Given the description of an element on the screen output the (x, y) to click on. 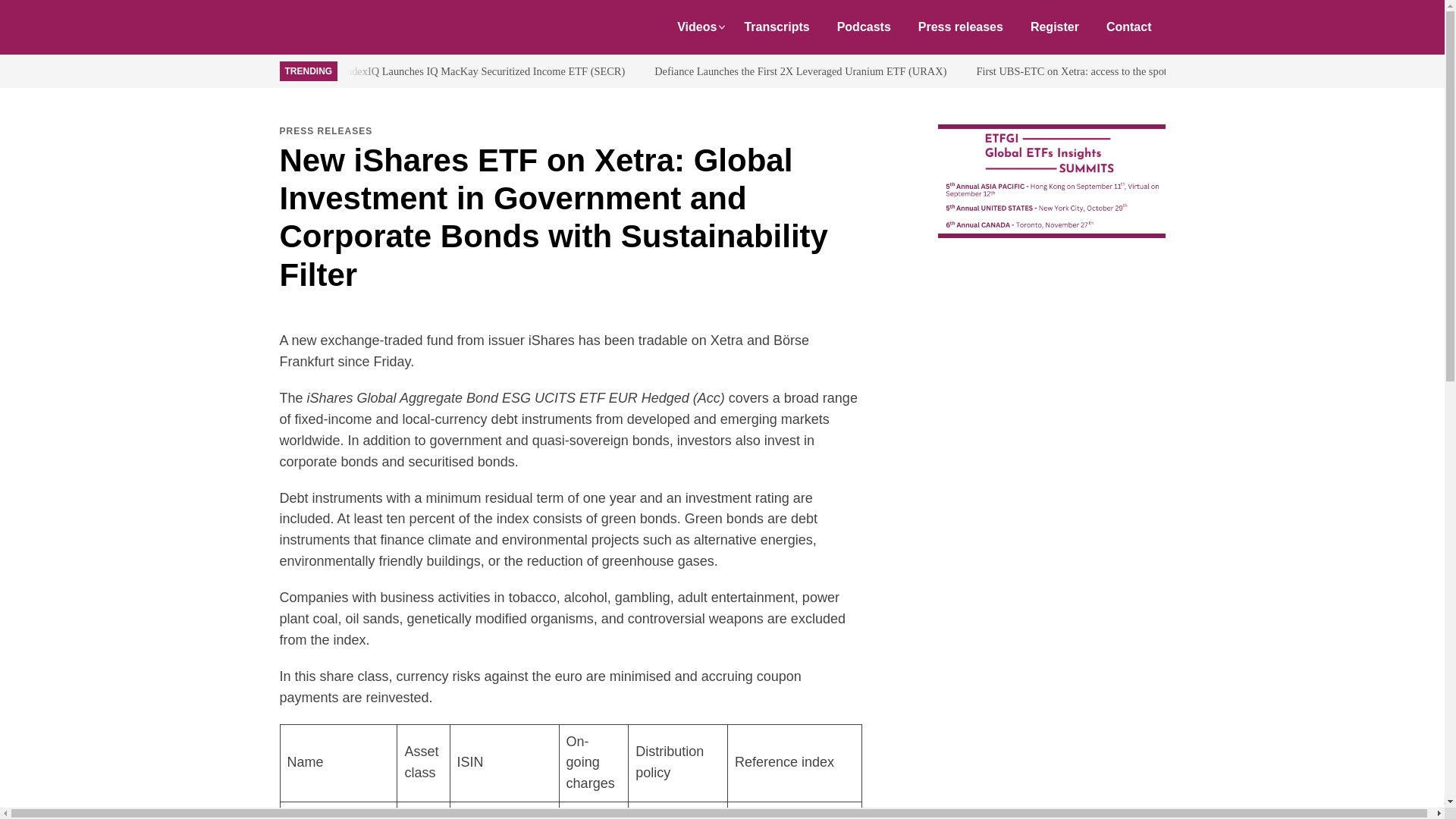
ETF TV (355, 26)
Podcasts (864, 27)
PRESS RELEASES (325, 131)
Transcripts (776, 27)
Press releases (960, 27)
Register (1054, 27)
Videos (696, 27)
Contact (1129, 27)
